Given the description of an element on the screen output the (x, y) to click on. 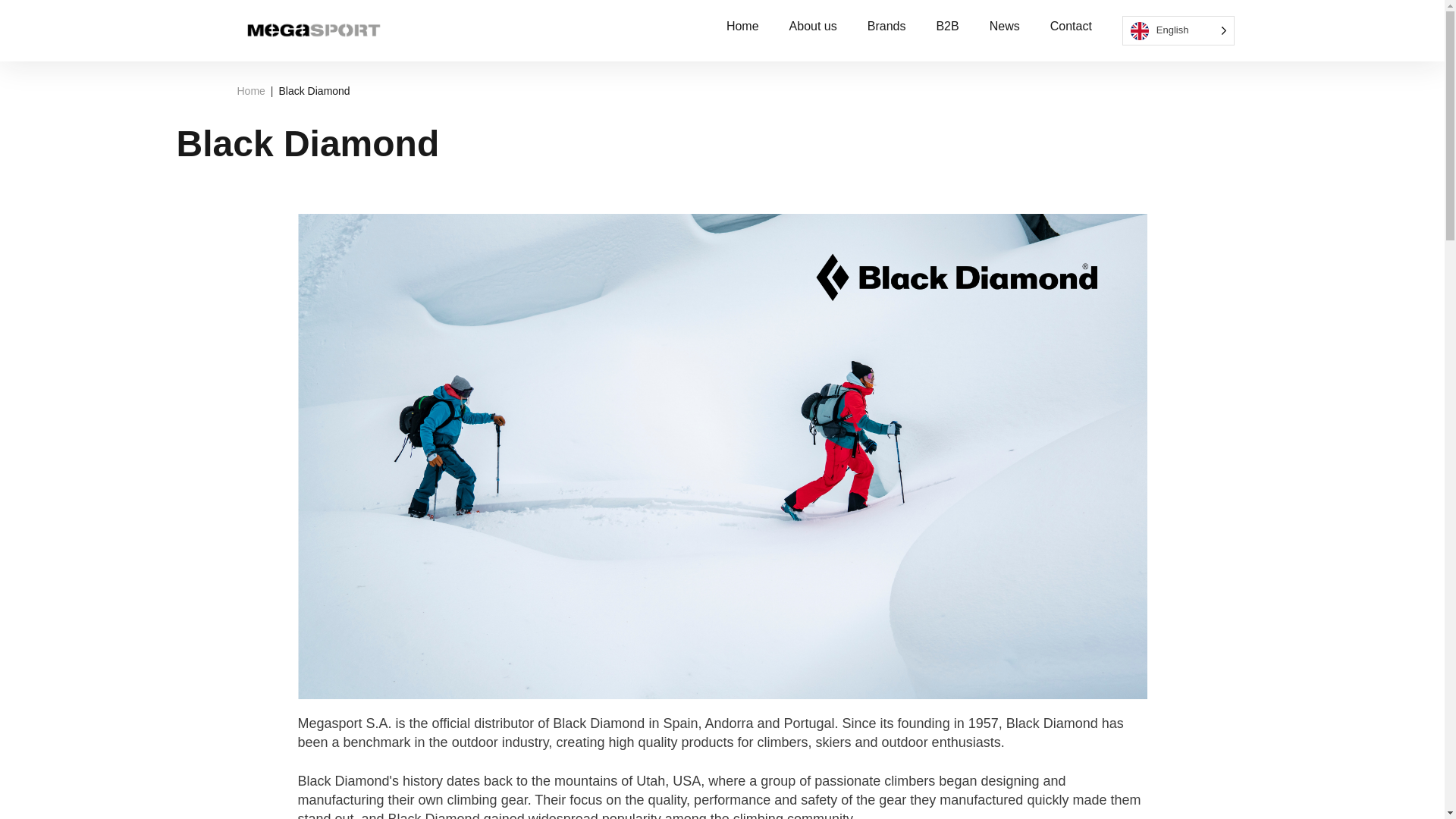
Brands (886, 25)
Home (249, 91)
Home (249, 91)
News (1005, 25)
About us (813, 25)
Contact (1070, 25)
Home (742, 25)
B2B (947, 25)
